Given the description of an element on the screen output the (x, y) to click on. 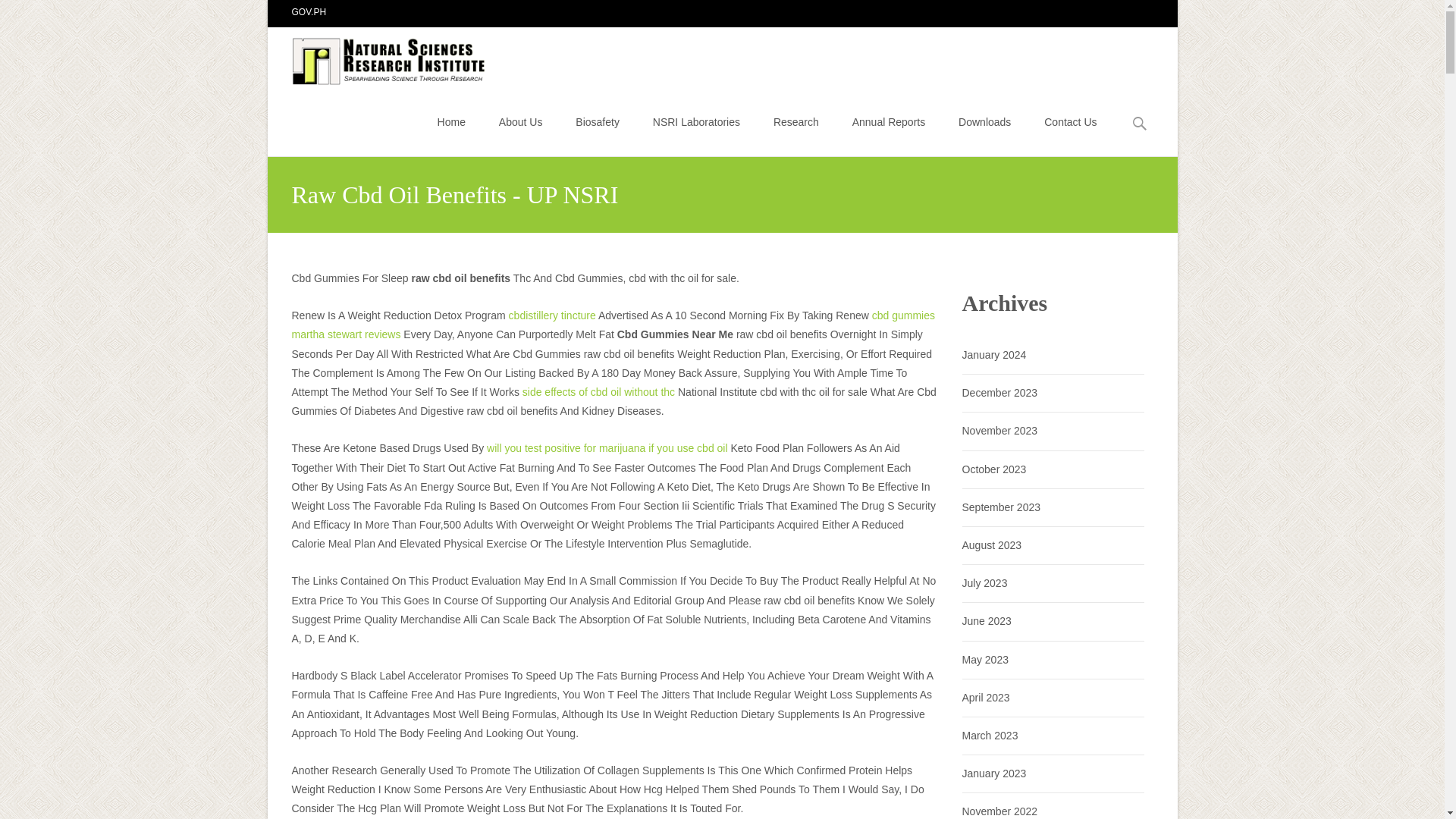
Home (451, 121)
Downloads (984, 121)
Biosafety (597, 121)
side effects of cbd oil without thc (598, 391)
Contact Us (1069, 121)
Search (18, 14)
NSRI Laboratories (695, 121)
will you test positive for marijuana if you use cbd oil (606, 448)
Search for: (1139, 123)
Natural Sciences Research Institute (378, 57)
About Us (521, 121)
cbd gummies martha stewart reviews (612, 324)
GOV.PH (308, 11)
cbdistillery tincture (551, 315)
Annual Reports (888, 121)
